Given the description of an element on the screen output the (x, y) to click on. 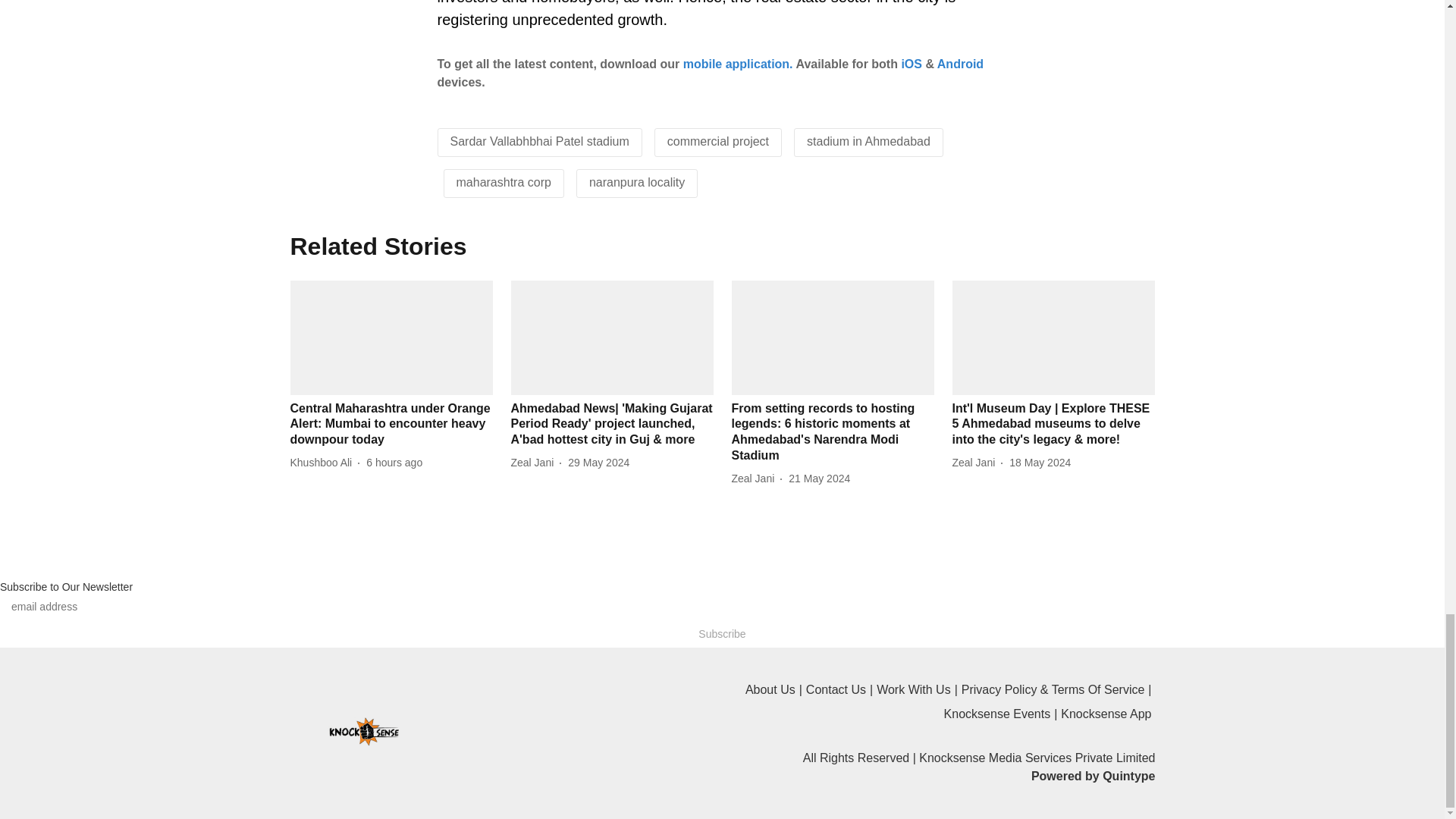
naranpura locality (636, 182)
Sardar Vallabhbhai Patel stadium (538, 141)
Zeal Jani (535, 462)
2024-05-18 02:43 (1039, 462)
commercial project (717, 141)
mobile application. (737, 63)
Khushboo Ali (323, 462)
2024-05-29 07:58 (597, 462)
2024-07-17 05:56 (394, 462)
stadium in Ahmedabad (868, 141)
2024-05-21 12:44 (819, 478)
iOS (911, 63)
maharashtra corp (504, 182)
